Given the description of an element on the screen output the (x, y) to click on. 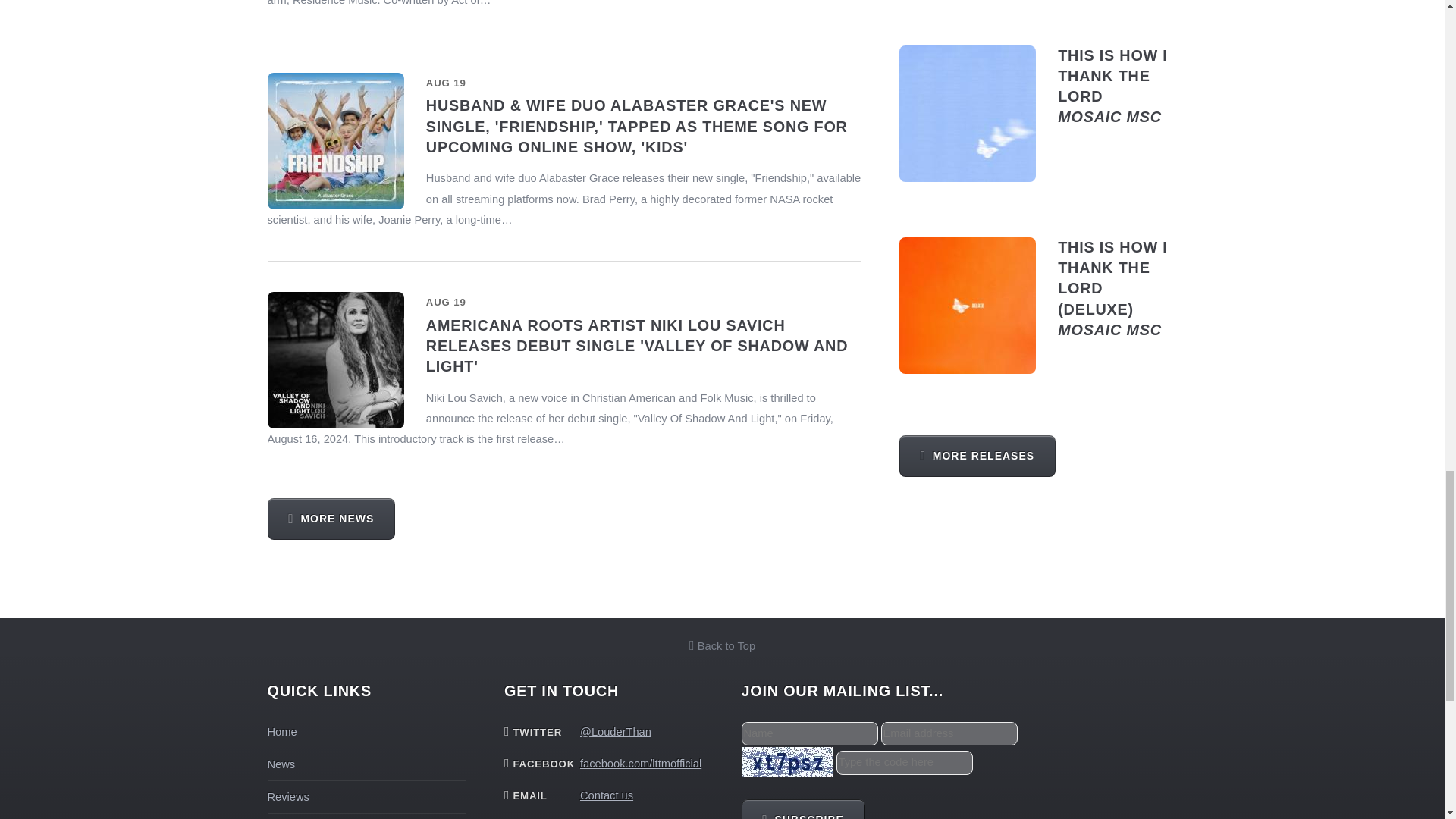
MORE RELEASES (1112, 85)
Reviews (977, 455)
This Is How I Thank The Lord (287, 797)
Home (967, 113)
News (281, 731)
 Back to Top (280, 764)
MORE NEWS (721, 645)
